Given the description of an element on the screen output the (x, y) to click on. 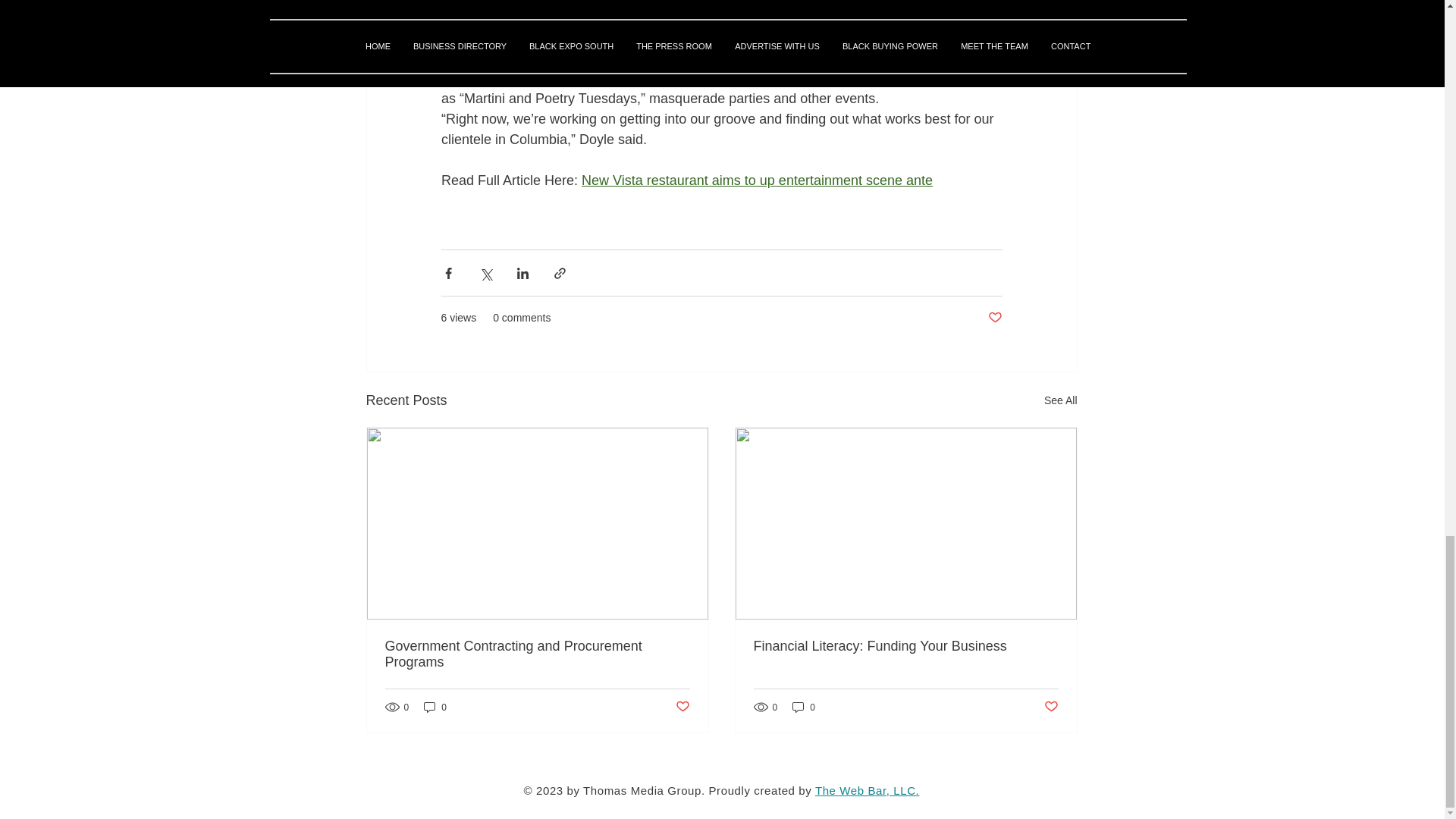
Government Contracting and Procurement Programs (537, 654)
The Web Bar, LLC. (867, 789)
0 (803, 707)
Post not marked as liked (1050, 706)
See All (1060, 400)
0 (435, 707)
Financial Literacy: Funding Your Business (906, 646)
New Vista restaurant aims to up entertainment scene ante (756, 180)
Post not marked as liked (994, 317)
Post not marked as liked (681, 706)
